Given the description of an element on the screen output the (x, y) to click on. 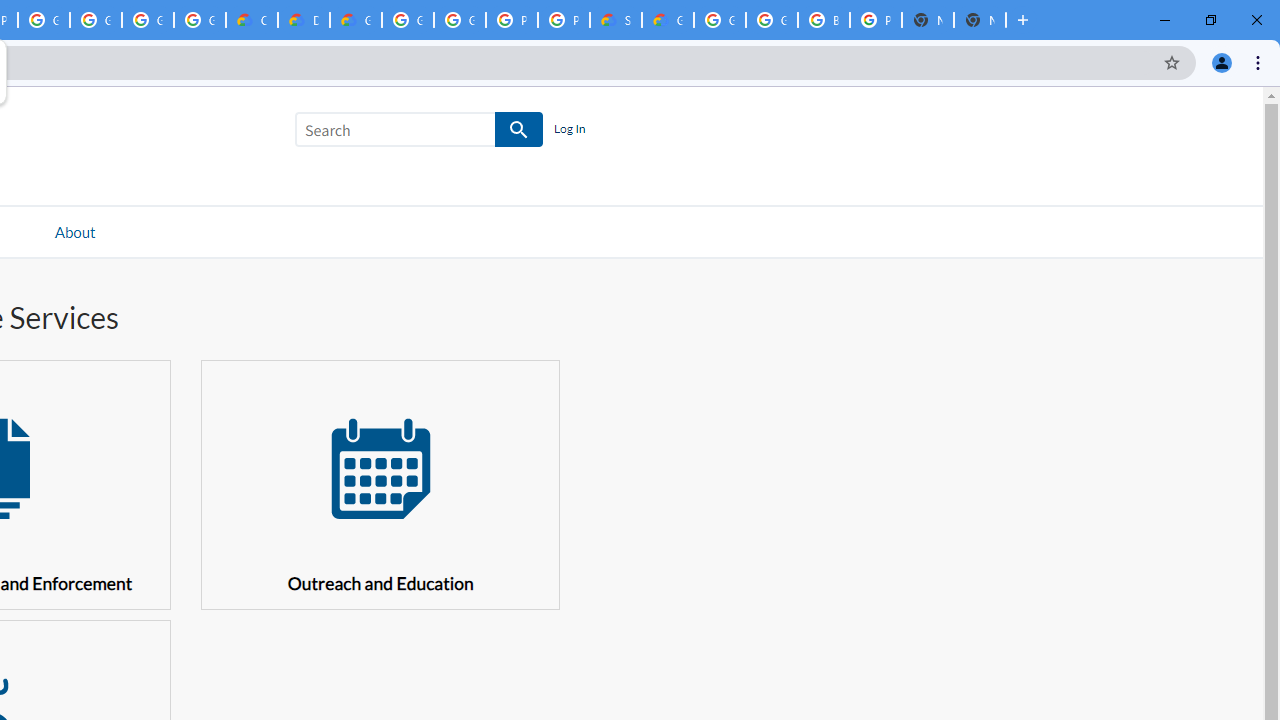
SEARCH (519, 130)
Support Hub | Google Cloud (616, 20)
Google Cloud Platform (771, 20)
Google Cloud Platform (407, 20)
Google Cloud Service Health (667, 20)
Customer Care | Google Cloud (251, 20)
Search SEARCH (419, 133)
Log In (569, 129)
